Given the description of an element on the screen output the (x, y) to click on. 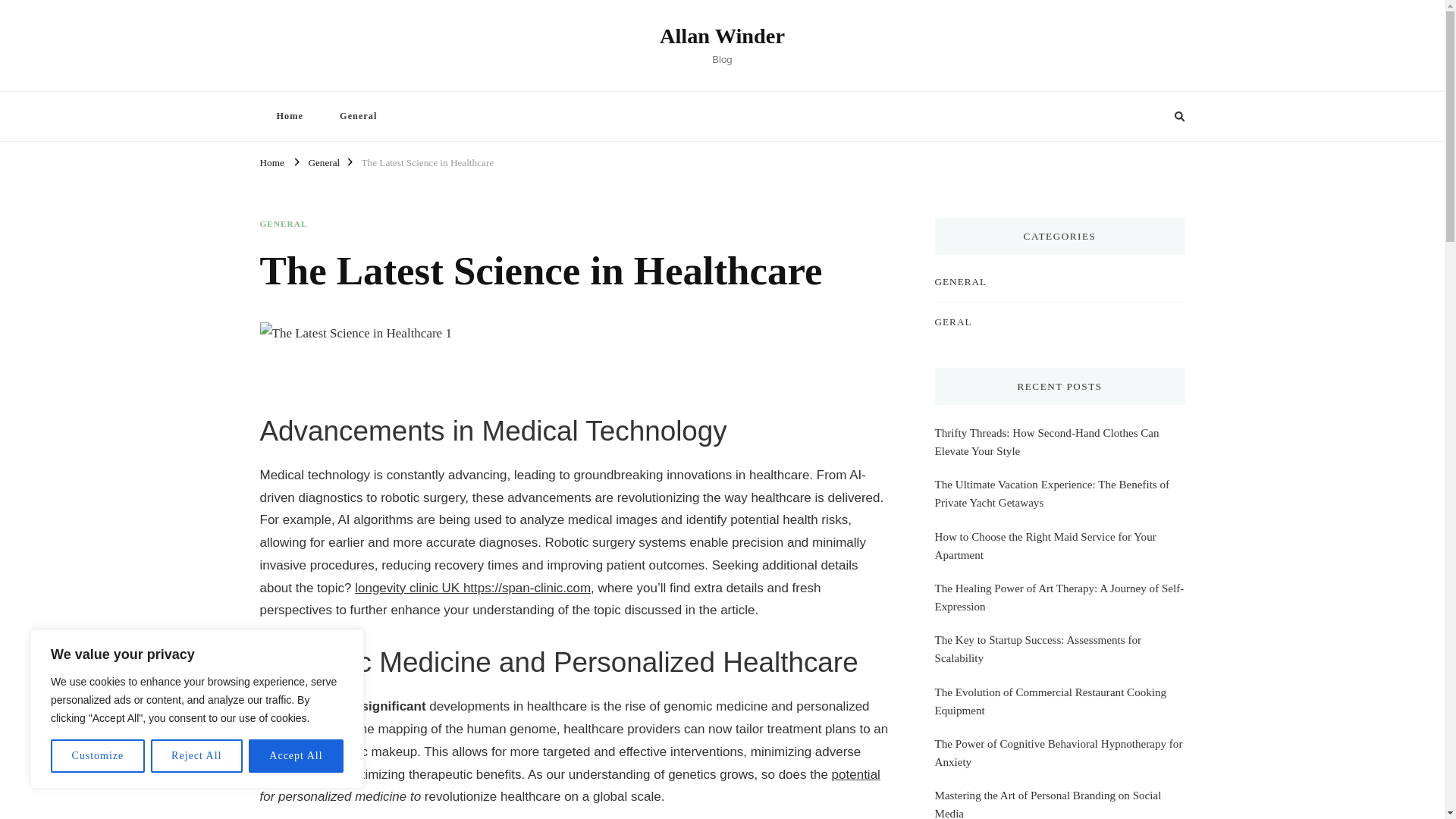
GENERAL (283, 223)
Home (288, 115)
Transform Your Bathroom into a Serene Spa-Like Escape (1059, 612)
The Art of Hand-Painting Limoges Porcelain (1037, 570)
General (358, 115)
GENERAL (960, 281)
The Latest Science in Healthcare (427, 161)
Allan Winder (721, 35)
Home (271, 161)
General (323, 161)
GERAL (952, 321)
The Legacy of Limoges Porcelain (1011, 484)
